Given the description of an element on the screen output the (x, y) to click on. 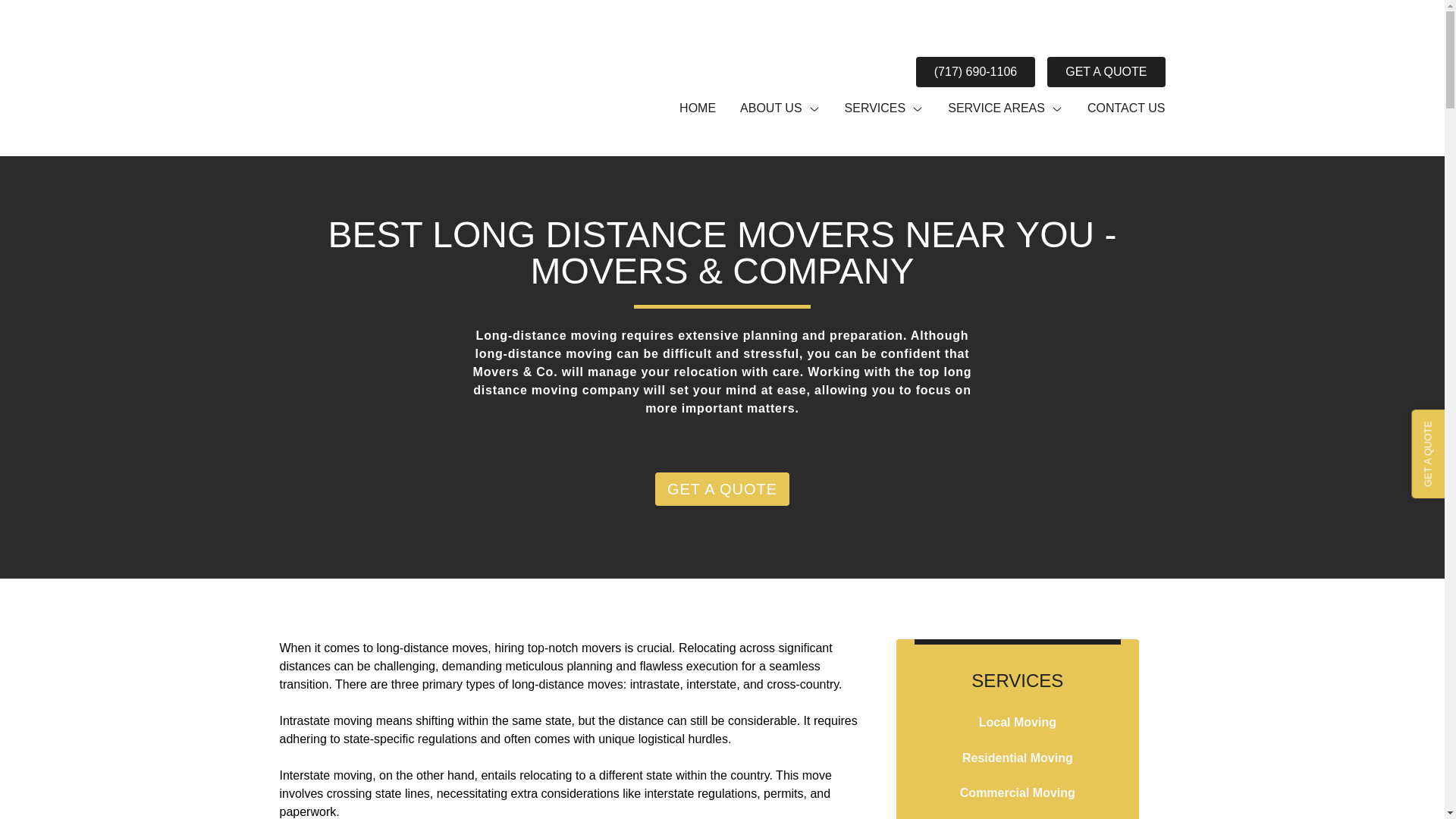
SERVICES (884, 107)
Arrow Down (917, 109)
Arrow Down (814, 109)
HOME (697, 107)
ABOUT US (780, 107)
SERVICE AREAS (1004, 107)
Arrow Down (1056, 109)
GET A QUOTE (1105, 71)
